Given the description of an element on the screen output the (x, y) to click on. 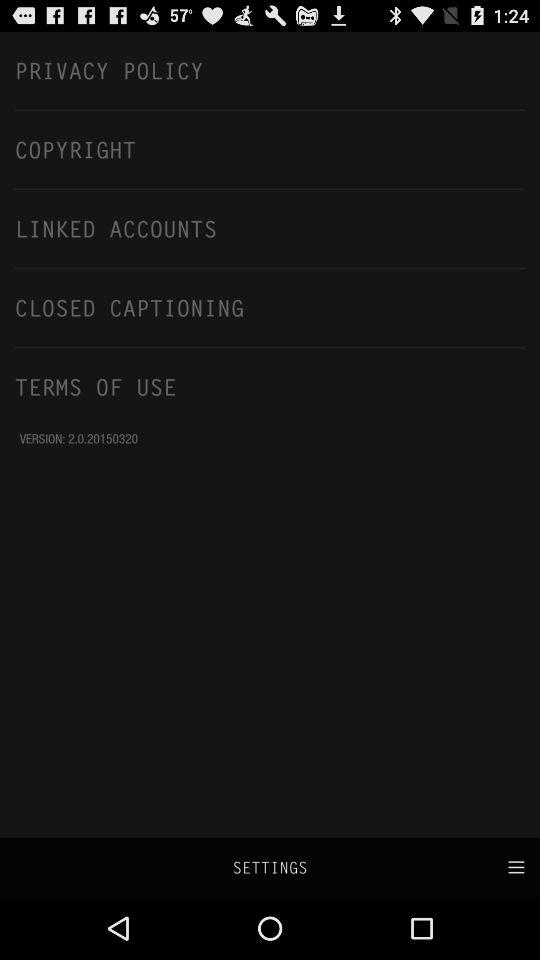
launch the linked accounts item (270, 228)
